Given the description of an element on the screen output the (x, y) to click on. 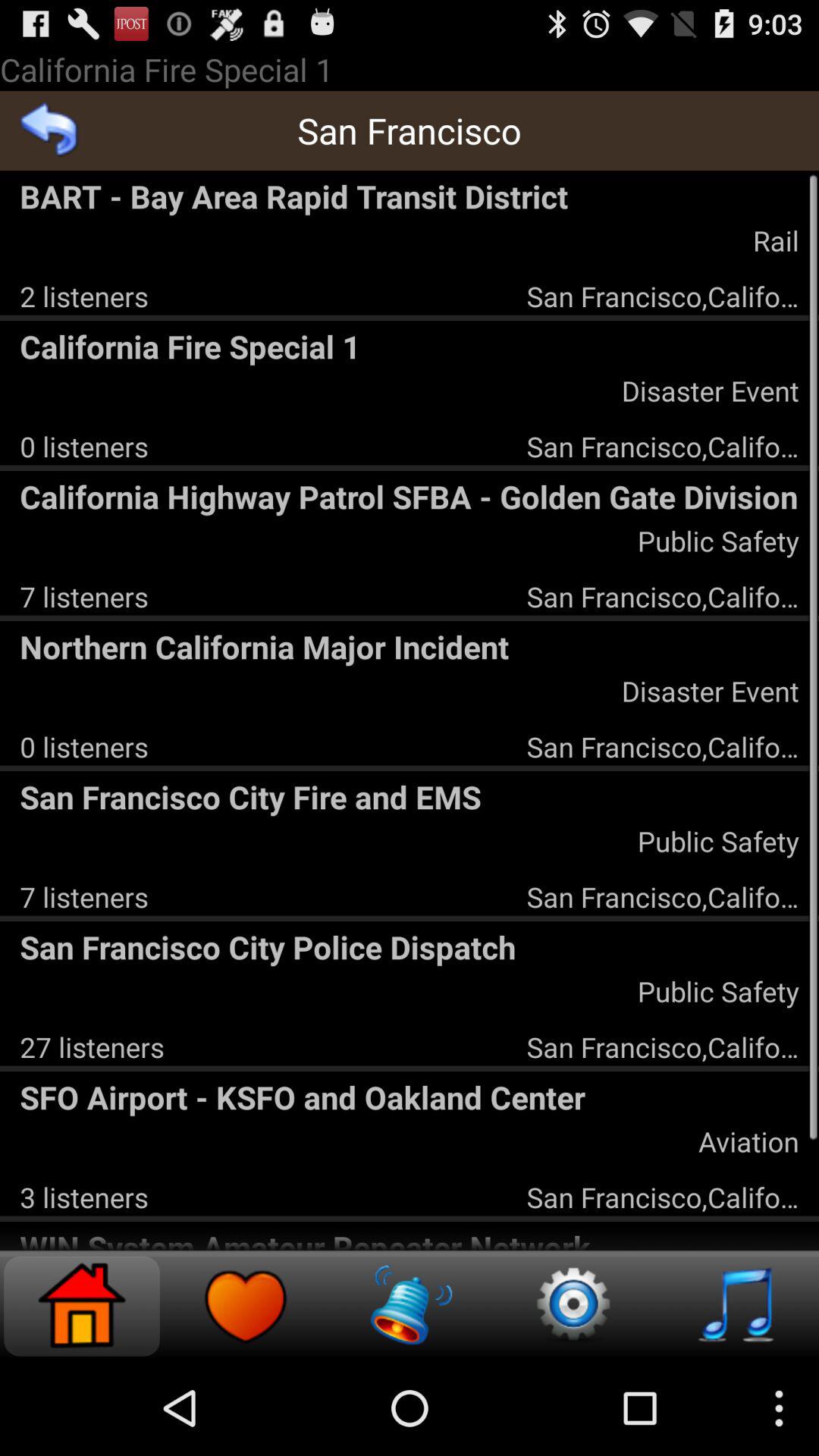
press the item below bart bay area app (83, 296)
